Given the description of an element on the screen output the (x, y) to click on. 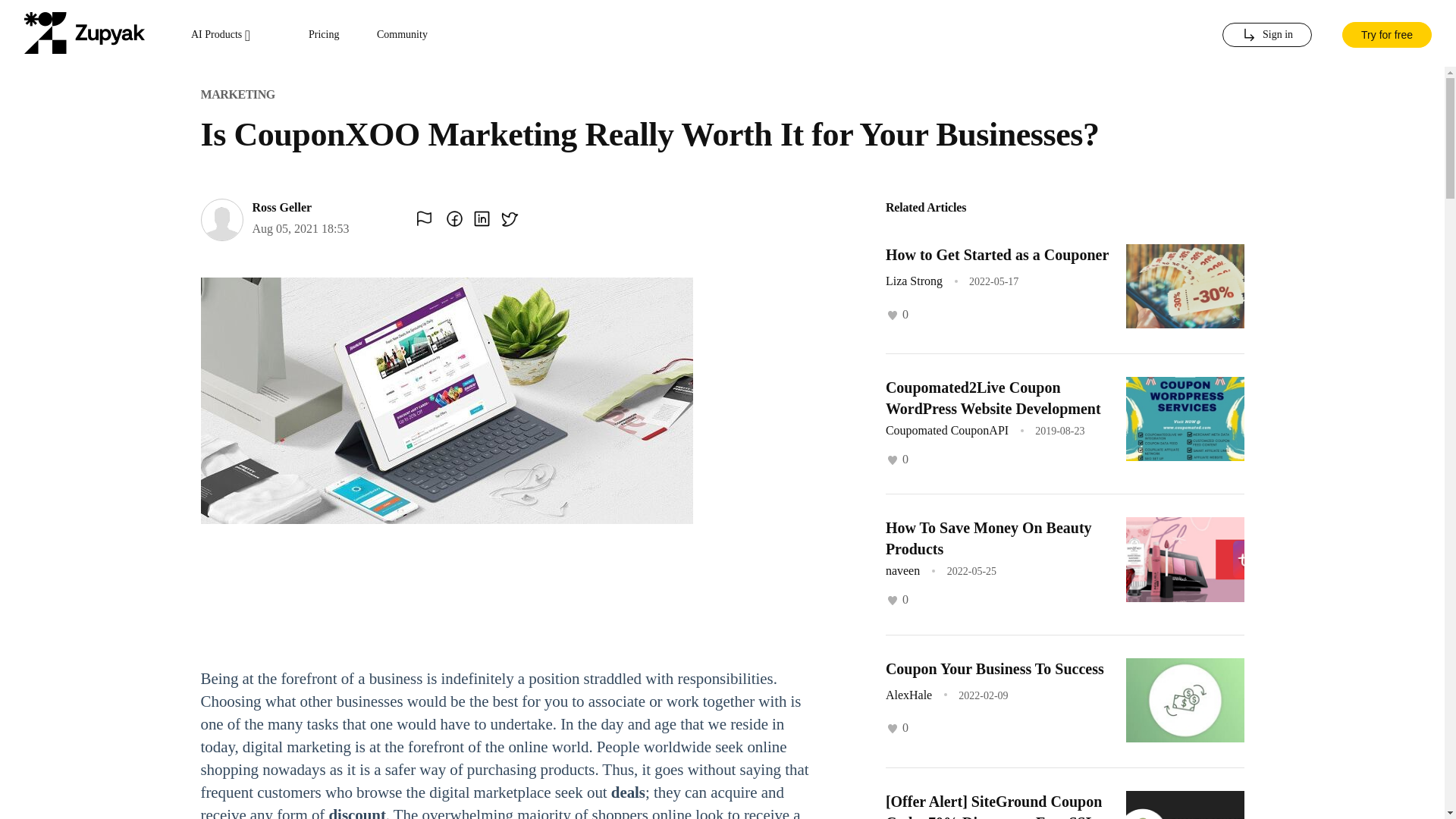
Pricing (323, 34)
MARKETING (237, 93)
Community (402, 34)
How To Save Money On Beauty Products (988, 538)
 Sign in (1267, 34)
Try for free (1386, 33)
Coupon Your Business To Success (994, 668)
How to Get Started as a Couponer (996, 254)
